Given the description of an element on the screen output the (x, y) to click on. 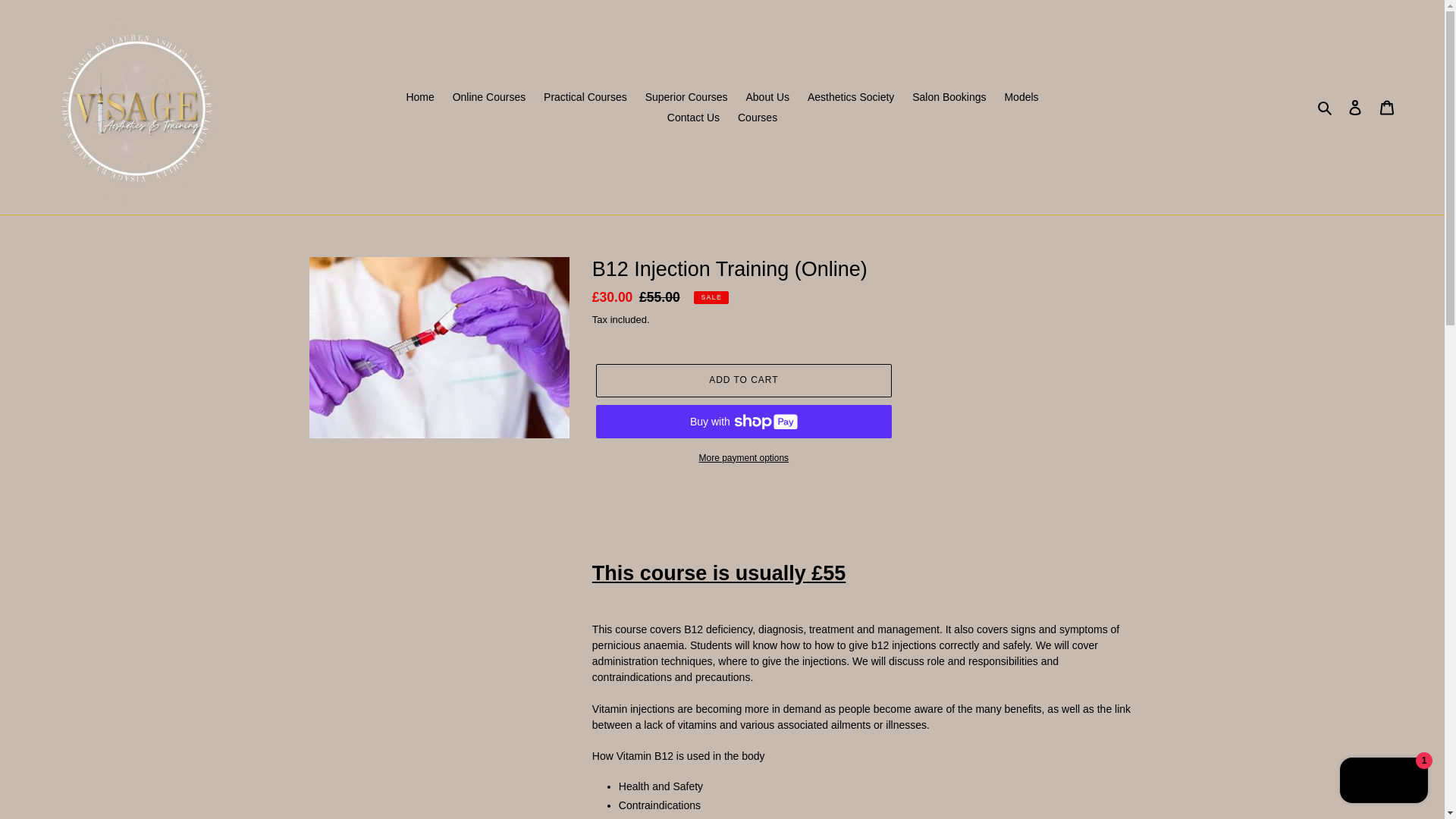
More payment options (743, 458)
ADD TO CART (743, 380)
Practical Courses (584, 96)
Models (1020, 96)
Online Courses (489, 96)
Salon Bookings (948, 96)
Contact Us (692, 117)
Superior Courses (686, 96)
Cart (1387, 106)
Log in (1355, 106)
Shopify online store chat (1383, 781)
About Us (767, 96)
Aesthetics Society (850, 96)
Courses (757, 117)
Search (1326, 107)
